Given the description of an element on the screen output the (x, y) to click on. 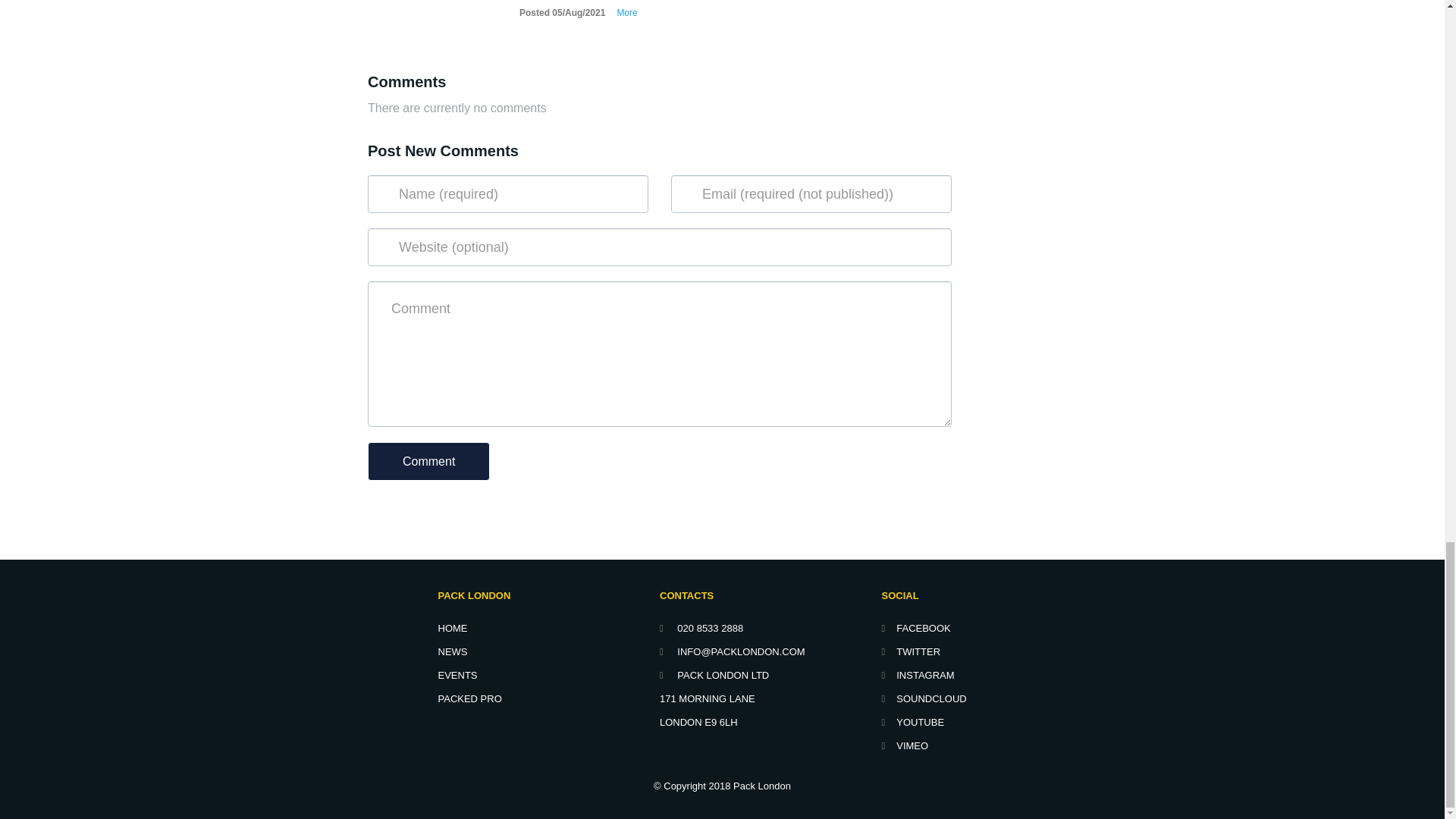
TWITTER (910, 651)
SOUNDCLOUD (923, 698)
020 8533 2888 (700, 627)
HOME (452, 627)
More (621, 12)
INSTAGRAM (916, 674)
NEWS (452, 651)
Comment (428, 461)
FACEBOOK (915, 627)
